Given the description of an element on the screen output the (x, y) to click on. 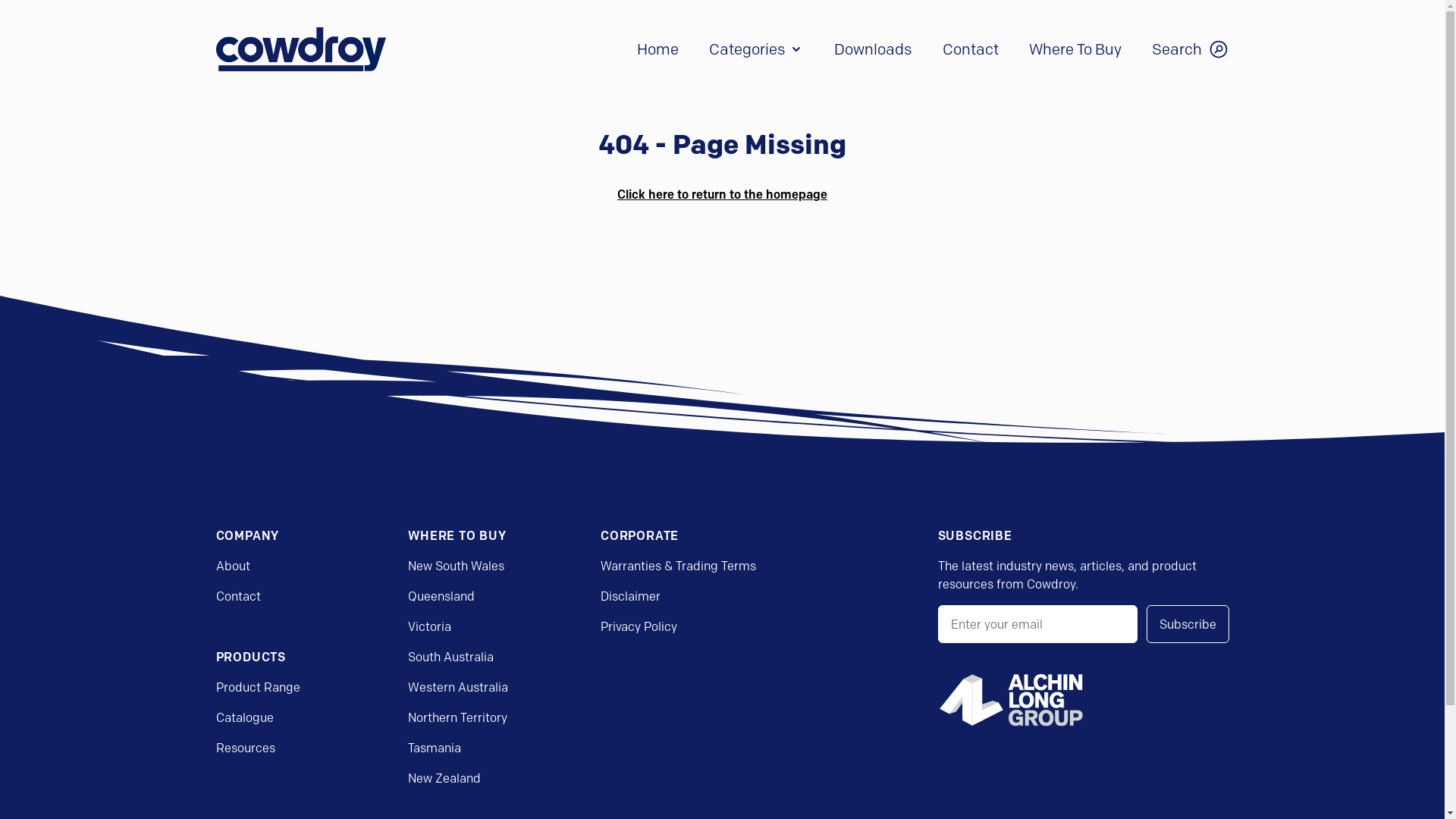
Warranties & Trading Terms Element type: text (678, 565)
Resources Element type: text (244, 747)
Home Element type: text (657, 48)
Where To Buy Element type: text (1074, 48)
New Zealand Element type: text (443, 777)
About Element type: text (232, 565)
Western Australia Element type: text (457, 686)
Subscribe Element type: text (1187, 624)
Tasmania Element type: text (434, 747)
Disclaimer Element type: text (630, 595)
Downloads Element type: text (873, 48)
Queensland Element type: text (440, 595)
Northern Territory Element type: text (457, 716)
Click here to return to the homepage Element type: text (722, 193)
Privacy Policy Element type: text (638, 625)
Search Element type: text (1189, 48)
Contact Element type: text (237, 595)
Victoria Element type: text (429, 625)
Catalogue Element type: text (244, 716)
South Australia Element type: text (450, 656)
Contact Element type: text (969, 48)
Product Range Element type: text (257, 686)
New South Wales Element type: text (455, 565)
Categories Element type: text (755, 48)
